Given the description of an element on the screen output the (x, y) to click on. 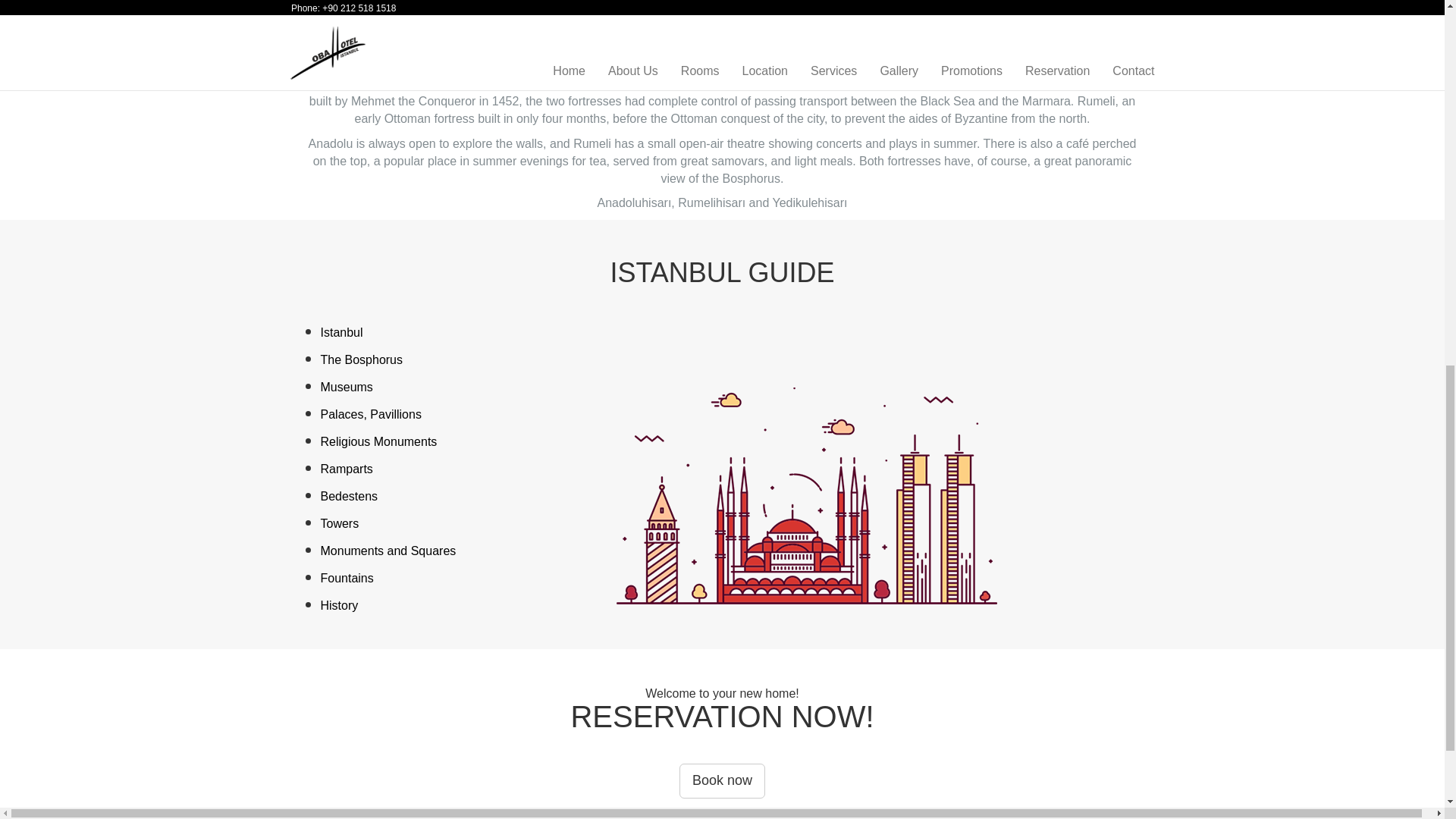
Bedestens (348, 495)
Ramparts (346, 468)
Istanbul (341, 332)
Fountains (346, 577)
Palaces, Pavillions (370, 413)
Towers (339, 522)
Religious Monuments (378, 440)
The Bosphorus (361, 359)
Monuments and Squares (387, 550)
Museums (346, 386)
